Given the description of an element on the screen output the (x, y) to click on. 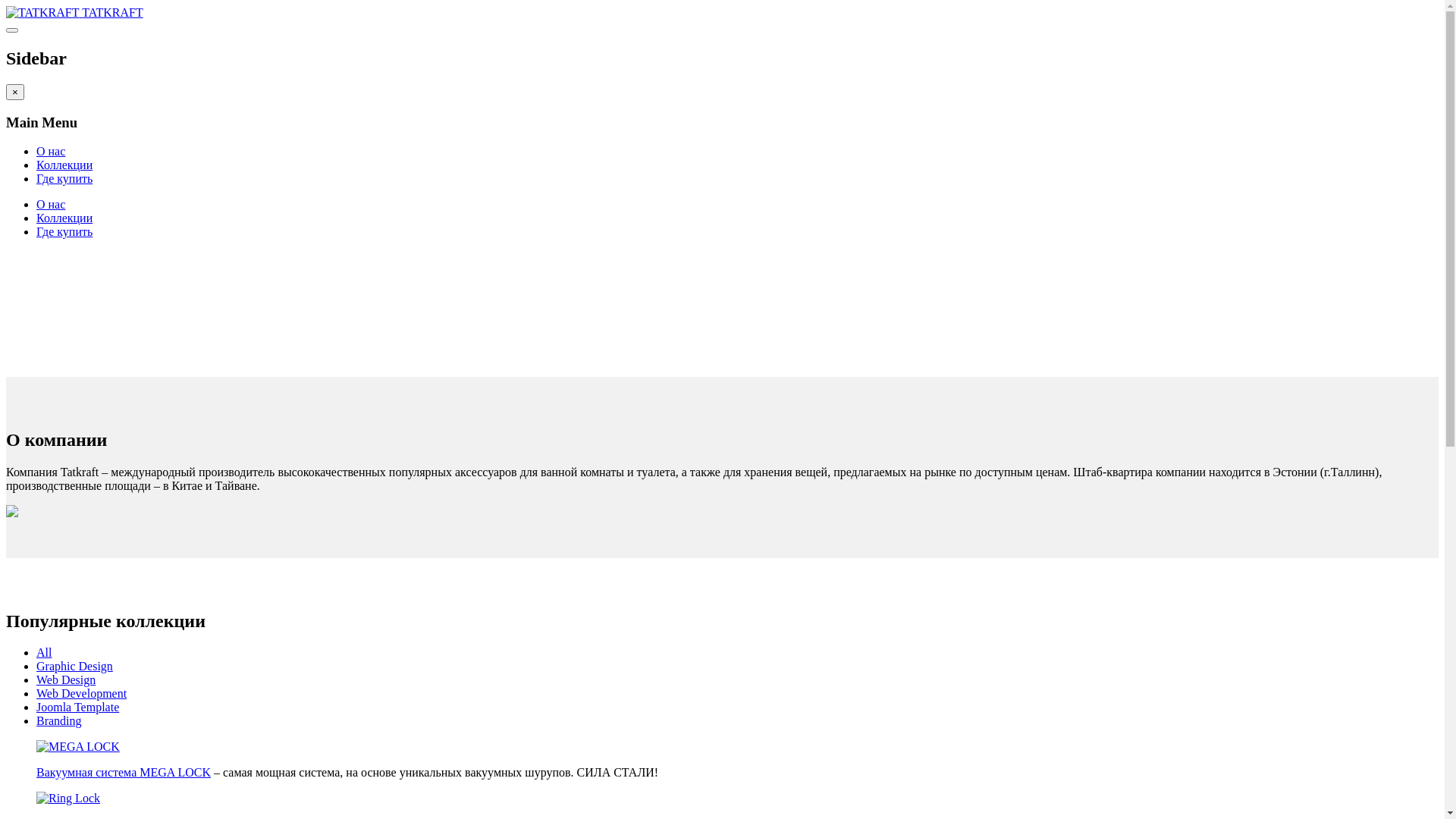
Web Design Element type: text (65, 679)
Web Development Element type: text (81, 693)
Joomla Template Element type: text (77, 706)
Branding Element type: text (58, 720)
TATKRAFT Element type: text (74, 12)
All Element type: text (43, 652)
Graphic Design Element type: text (74, 665)
